Given the description of an element on the screen output the (x, y) to click on. 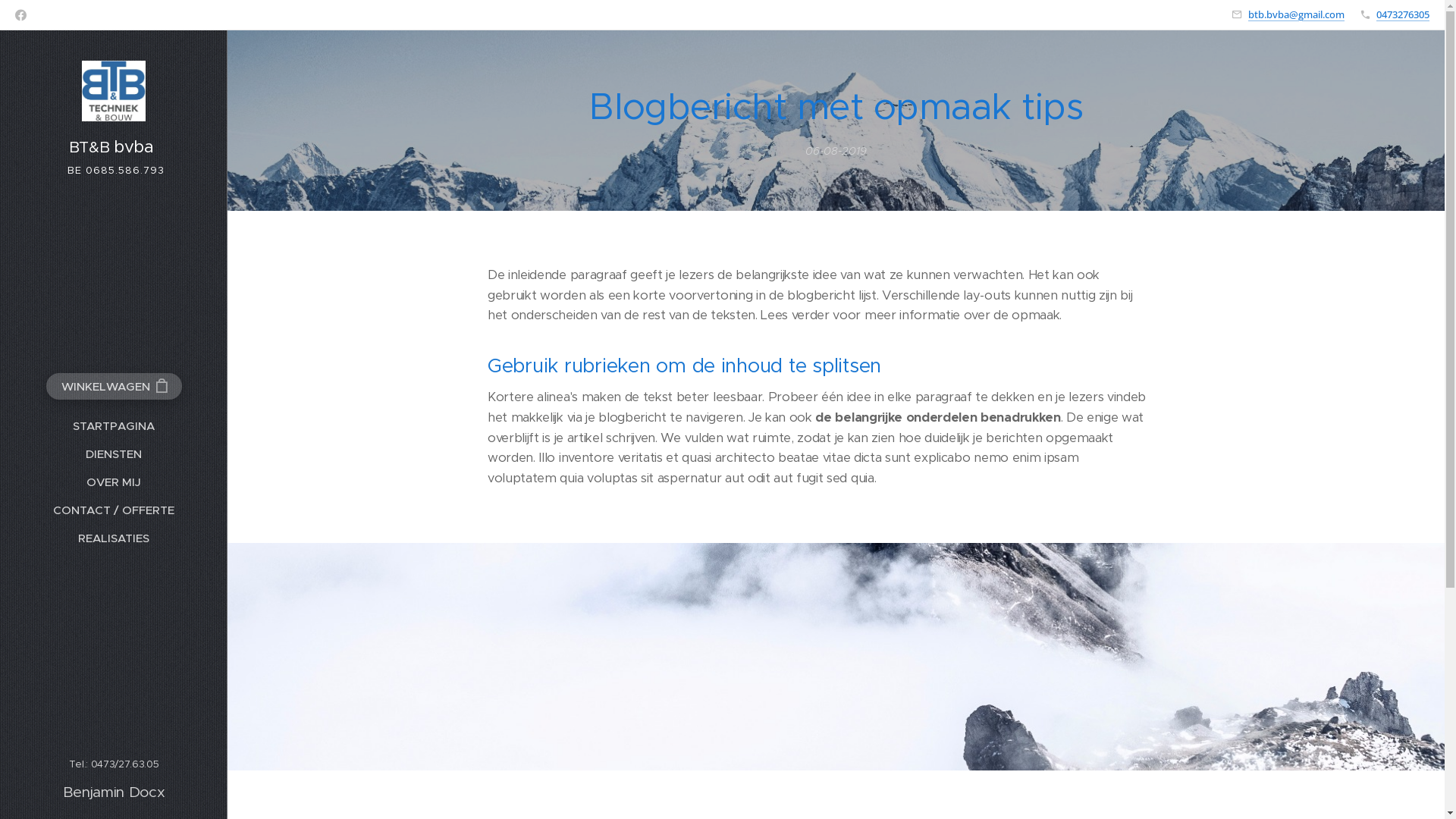
WINKELWAGEN Element type: text (113, 386)
OVER MIJ Element type: text (113, 481)
REALISATIES Element type: text (113, 537)
DIENSTEN Element type: text (113, 453)
btb.bvba@gmail.com Element type: text (1296, 14)
0473276305 Element type: text (1402, 14)
Facebook Element type: hover (20, 15)
STARTPAGINA Element type: text (113, 425)
CONTACT / OFFERTE Element type: text (113, 509)
BT&B bvba  Element type: text (113, 110)
